Given the description of an element on the screen output the (x, y) to click on. 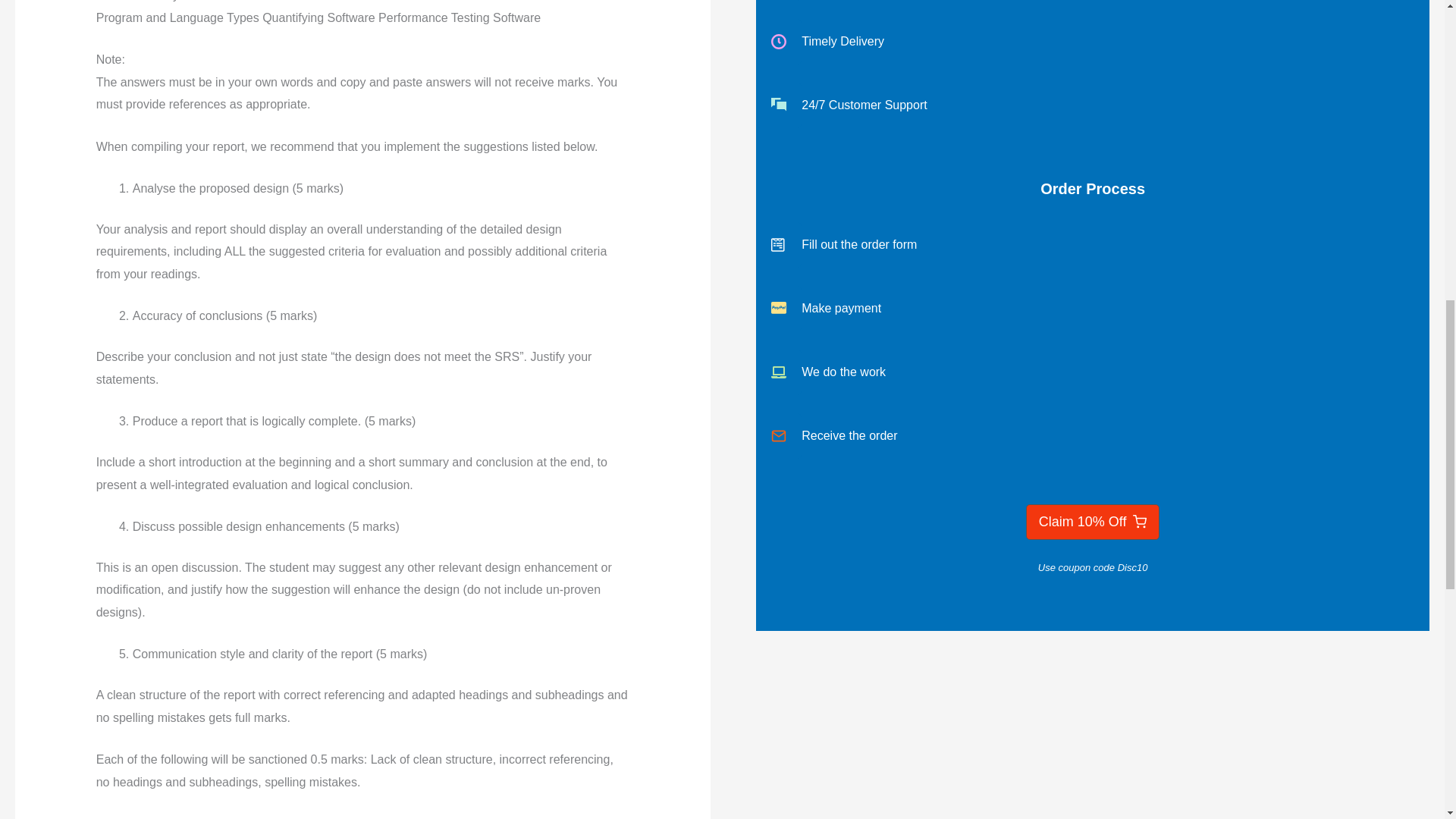
Timely Delivery (1092, 41)
Fill out the order form (1092, 244)
